Given the description of an element on the screen output the (x, y) to click on. 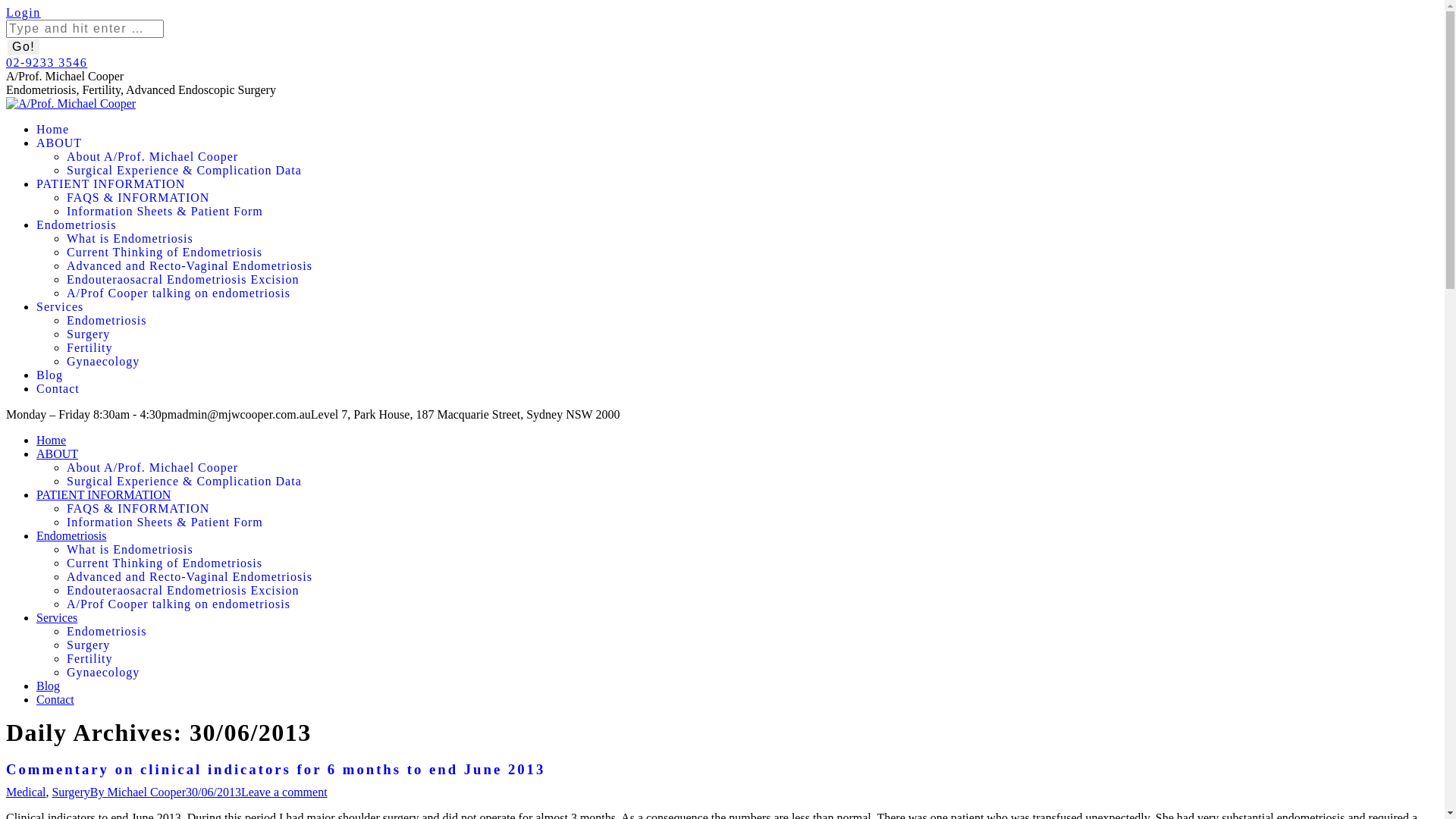
Contact Element type: text (55, 699)
FAQS & INFORMATION Element type: text (752, 197)
30/06/2013 Element type: text (213, 791)
A/Prof Cooper talking on endometriosis Element type: text (752, 604)
Login Element type: text (23, 12)
What is Endometriosis Element type: text (752, 238)
02-9233 3546 Element type: text (46, 62)
Fertility Element type: text (752, 658)
About A/Prof. Michael Cooper Element type: text (752, 467)
Surgical Experience & Complication Data Element type: text (752, 170)
Blog Element type: text (47, 685)
Surgery Element type: text (752, 645)
Information Sheets & Patient Form Element type: text (752, 211)
ABOUT Element type: text (57, 453)
Endouteraosacral Endometriosis Excision Element type: text (752, 590)
What is Endometriosis Element type: text (752, 549)
Advanced and Recto-Vaginal Endometriosis Element type: text (752, 576)
ABOUT Element type: text (58, 142)
Endometriosis Element type: text (71, 535)
Surgery Element type: text (752, 334)
Services Element type: text (56, 617)
Endouteraosacral Endometriosis Excision Element type: text (752, 279)
Contact Element type: text (57, 388)
About A/Prof. Michael Cooper Element type: text (752, 156)
Search form Element type: hover (84, 28)
Endometriosis Element type: text (752, 320)
Medical Element type: text (25, 791)
Gynaecology Element type: text (752, 361)
Go! Element type: text (23, 46)
PATIENT INFORMATION Element type: text (103, 494)
Current Thinking of Endometriosis Element type: text (752, 252)
Gynaecology Element type: text (752, 672)
Home Element type: text (50, 439)
A/Prof Cooper talking on endometriosis Element type: text (752, 293)
Fertility Element type: text (752, 347)
Home Element type: text (52, 128)
Services Element type: text (59, 306)
Blog Element type: text (49, 374)
FAQS & INFORMATION Element type: text (752, 508)
Current Thinking of Endometriosis Element type: text (752, 563)
By Michael Cooper Element type: text (137, 791)
Skip to content Element type: text (5, 5)
Information Sheets & Patient Form Element type: text (752, 522)
Endometriosis Element type: text (752, 631)
Surgery Element type: text (70, 791)
Leave a comment Element type: text (284, 791)
Advanced and Recto-Vaginal Endometriosis Element type: text (752, 266)
Endometriosis Element type: text (76, 224)
PATIENT INFORMATION Element type: text (110, 183)
Surgical Experience & Complication Data Element type: text (752, 481)
